Given the description of an element on the screen output the (x, y) to click on. 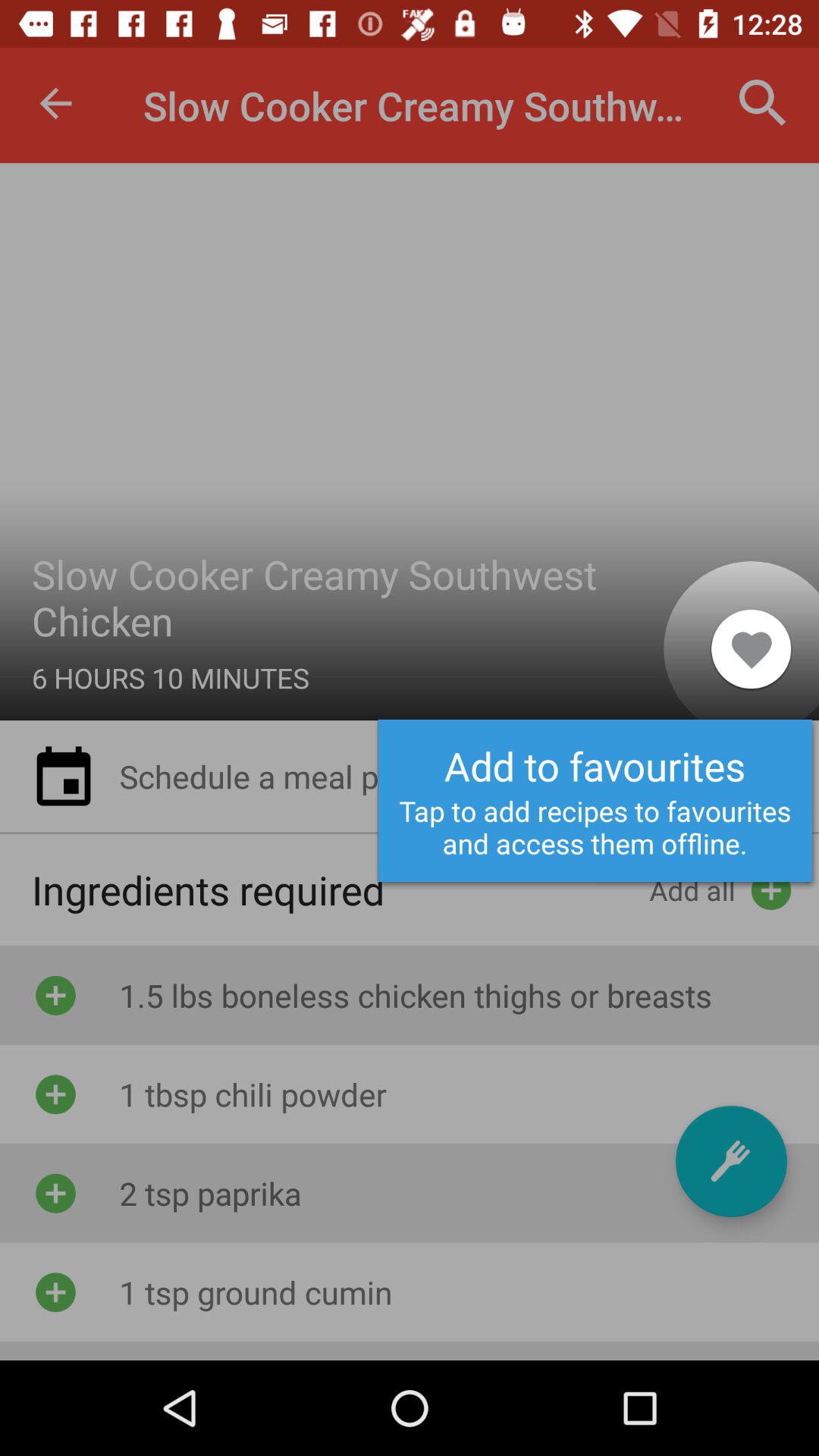
choose the icon next to the slow cooker creamy (55, 103)
